Given the description of an element on the screen output the (x, y) to click on. 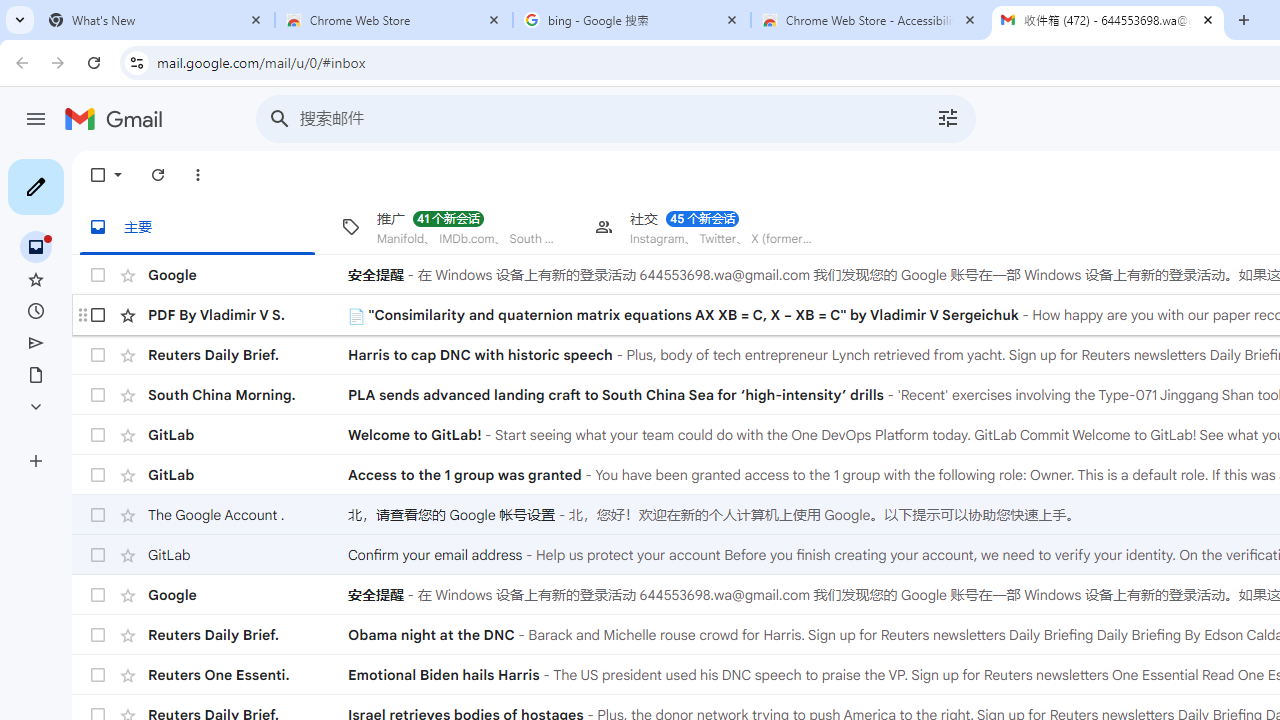
Reuters One Essenti. (248, 674)
PDF By Vladimir V S. (248, 314)
Chrome Web Store (394, 20)
Gmail (118, 121)
